Given the description of an element on the screen output the (x, y) to click on. 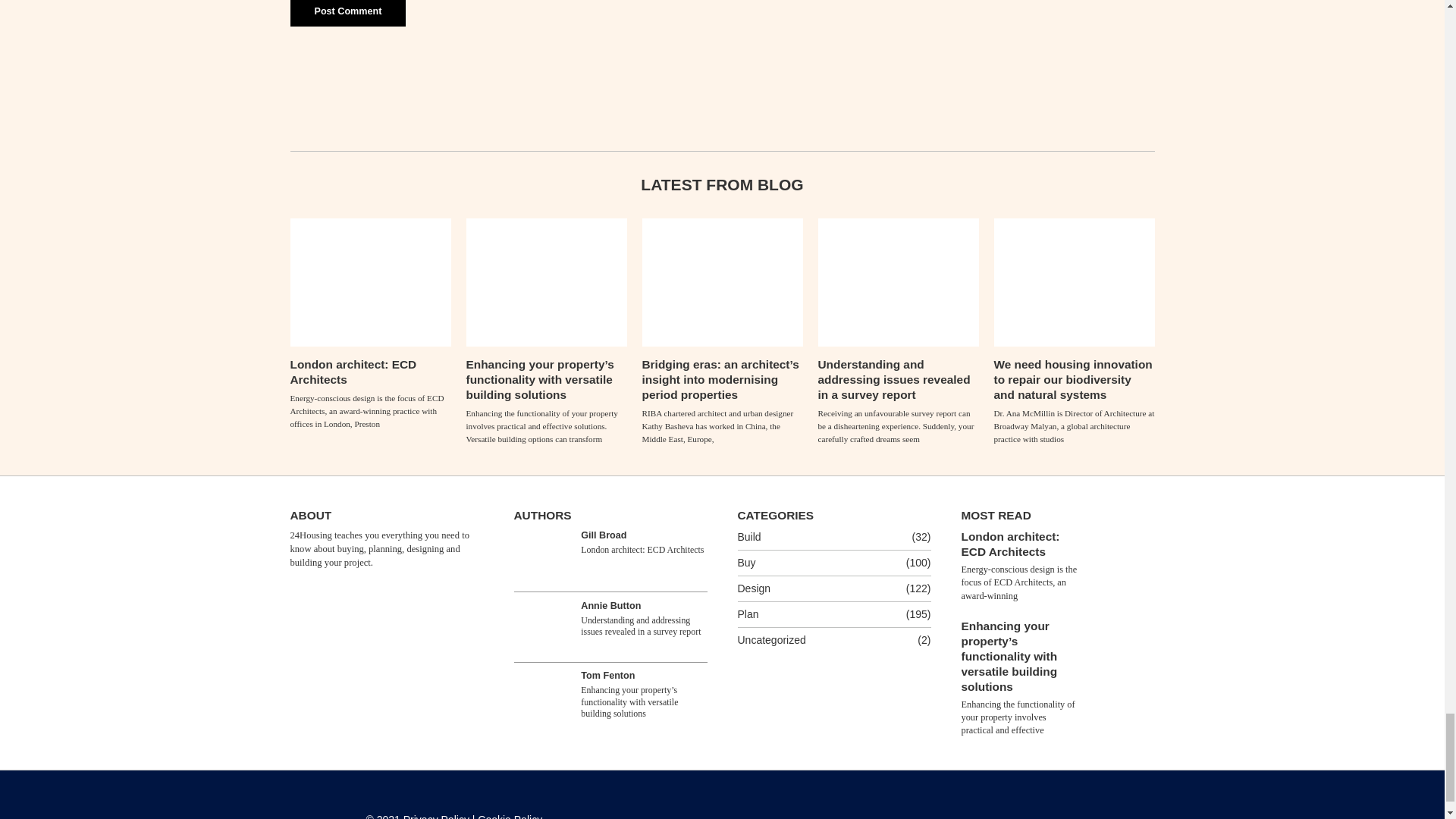
Tom Fenton (541, 696)
Post Comment (347, 13)
Gill Broad (541, 556)
Post Comment (347, 13)
Annie Button (541, 626)
